Given the description of an element on the screen output the (x, y) to click on. 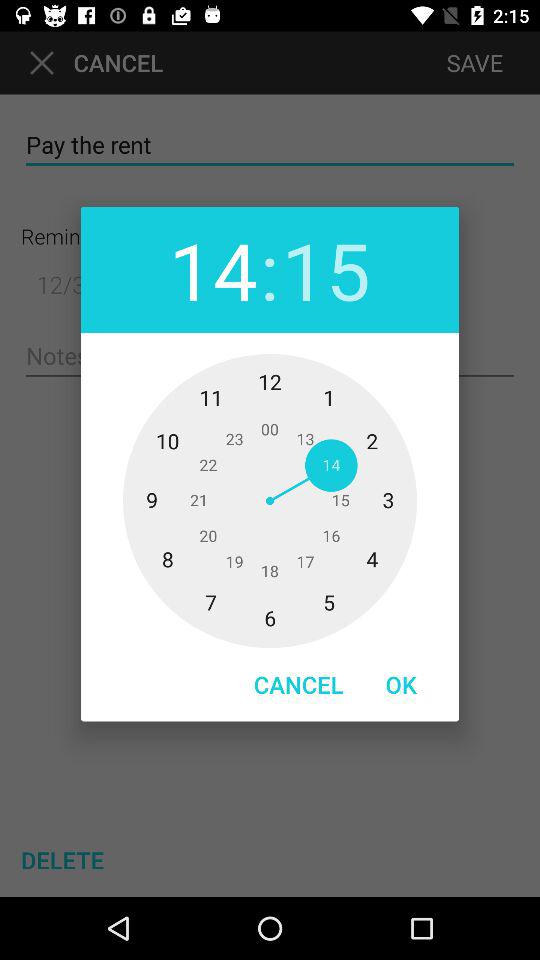
jump to ok item (401, 684)
